Given the description of an element on the screen output the (x, y) to click on. 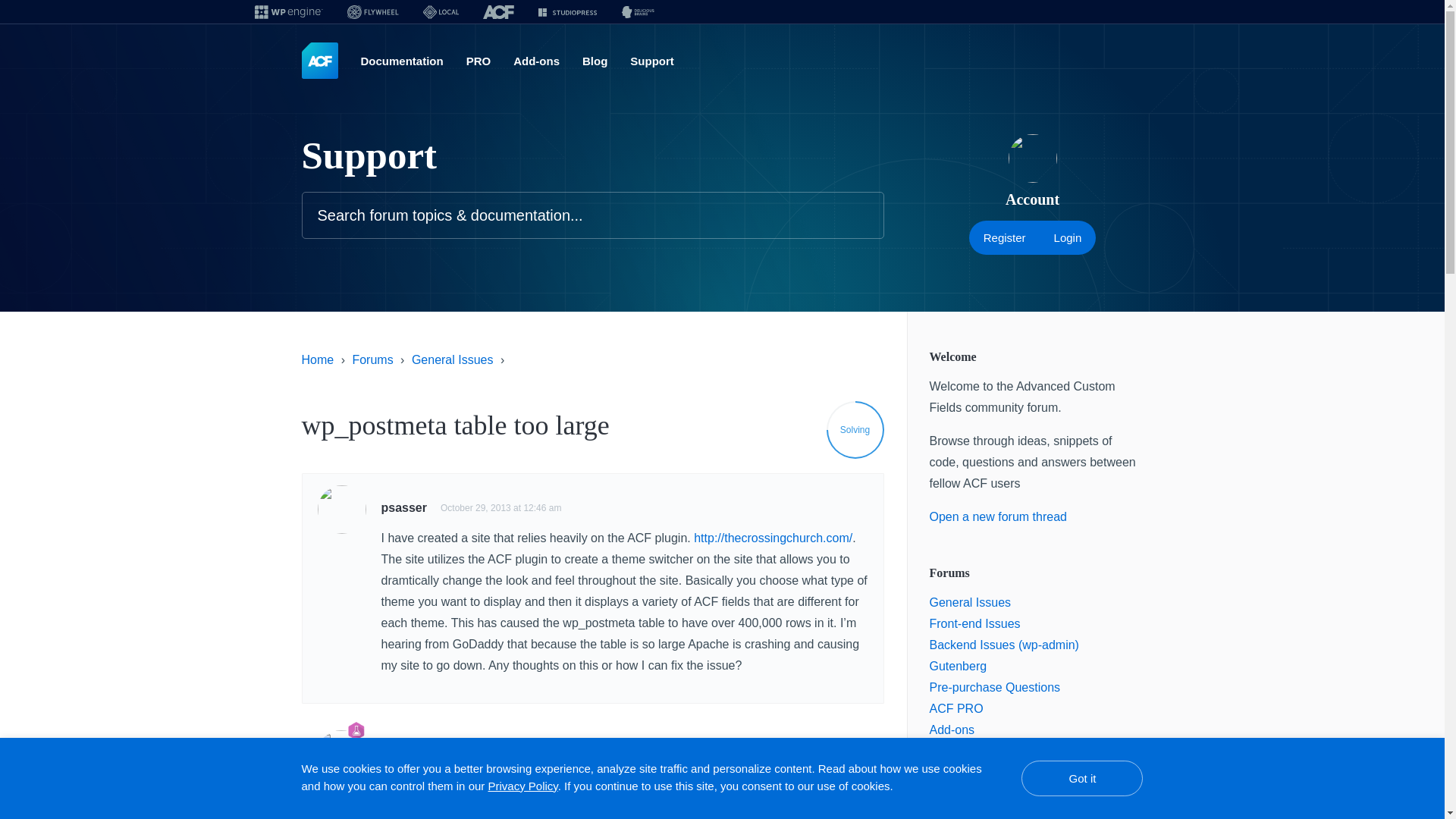
October 29, 2013 at 5:54 pm (481, 752)
Blog (594, 61)
Add-ons (536, 61)
Elliot (395, 752)
Gutenberg (958, 666)
Delicious brains (637, 11)
PRO (478, 61)
Solving (855, 429)
General Issues (452, 359)
psasser (403, 507)
ACF (497, 11)
Guru (356, 730)
Register (1005, 237)
General Issues (970, 602)
Support (651, 61)
